Given the description of an element on the screen output the (x, y) to click on. 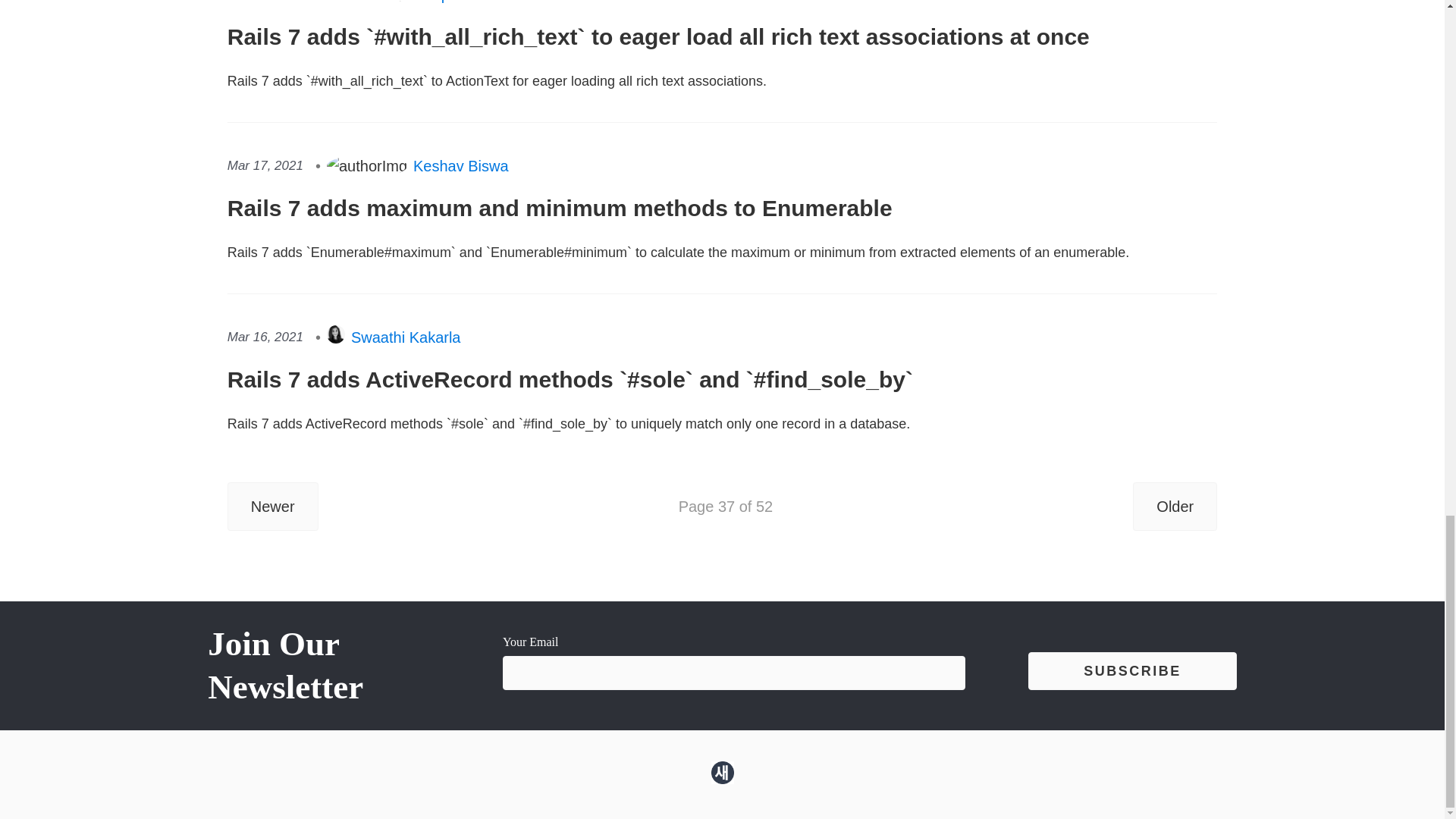
Newer (272, 506)
SUBSCRIBE (1131, 671)
SUBSCRIBE (1131, 671)
Deepak Mahakale (474, 2)
Rails 7 adds maximum and minimum methods to Enumerable (722, 225)
Keshav Biswa (460, 165)
Older (1174, 506)
Swaathi Kakarla (405, 336)
